Given the description of an element on the screen output the (x, y) to click on. 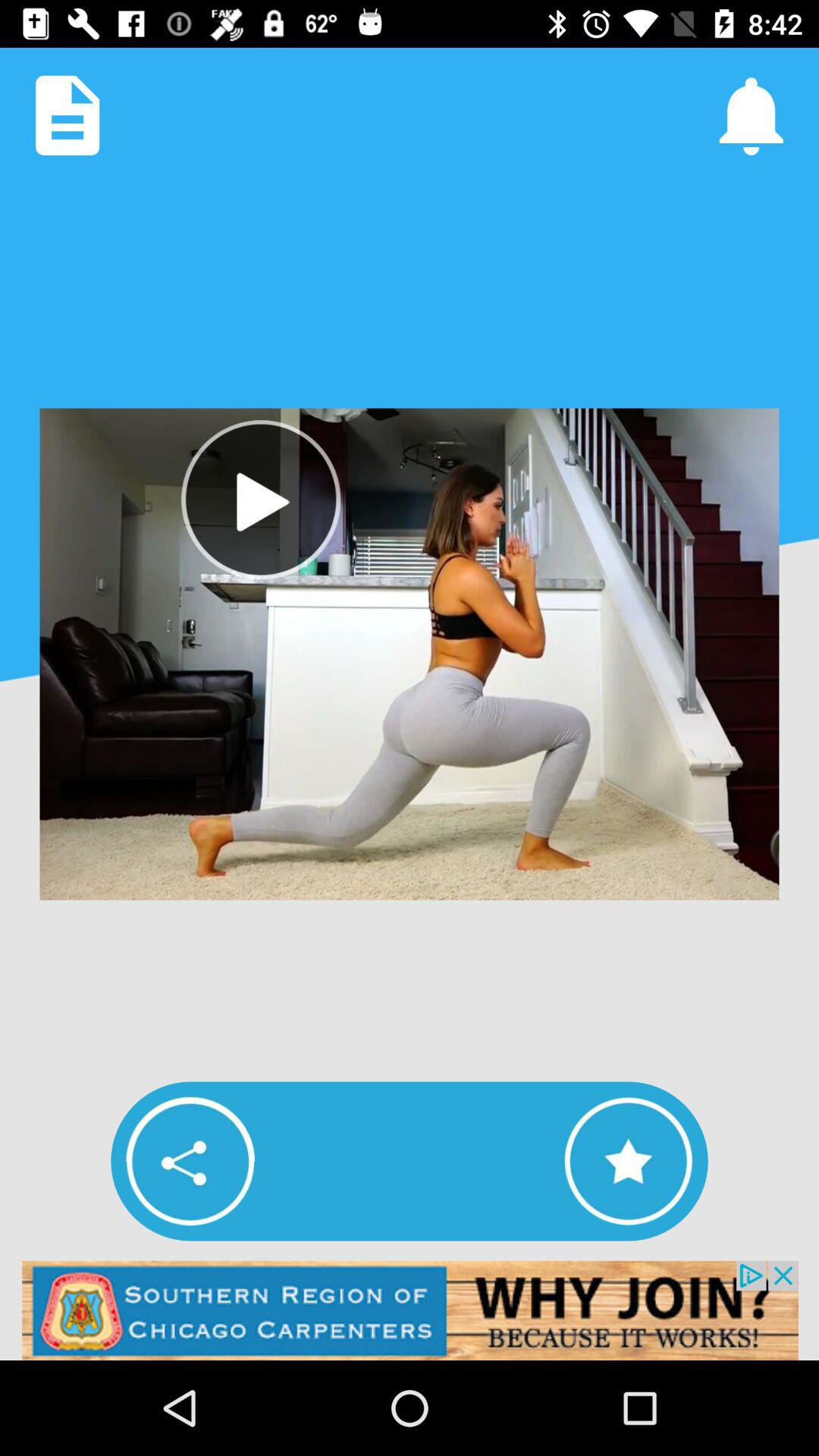
copy page (67, 115)
